Given the description of an element on the screen output the (x, y) to click on. 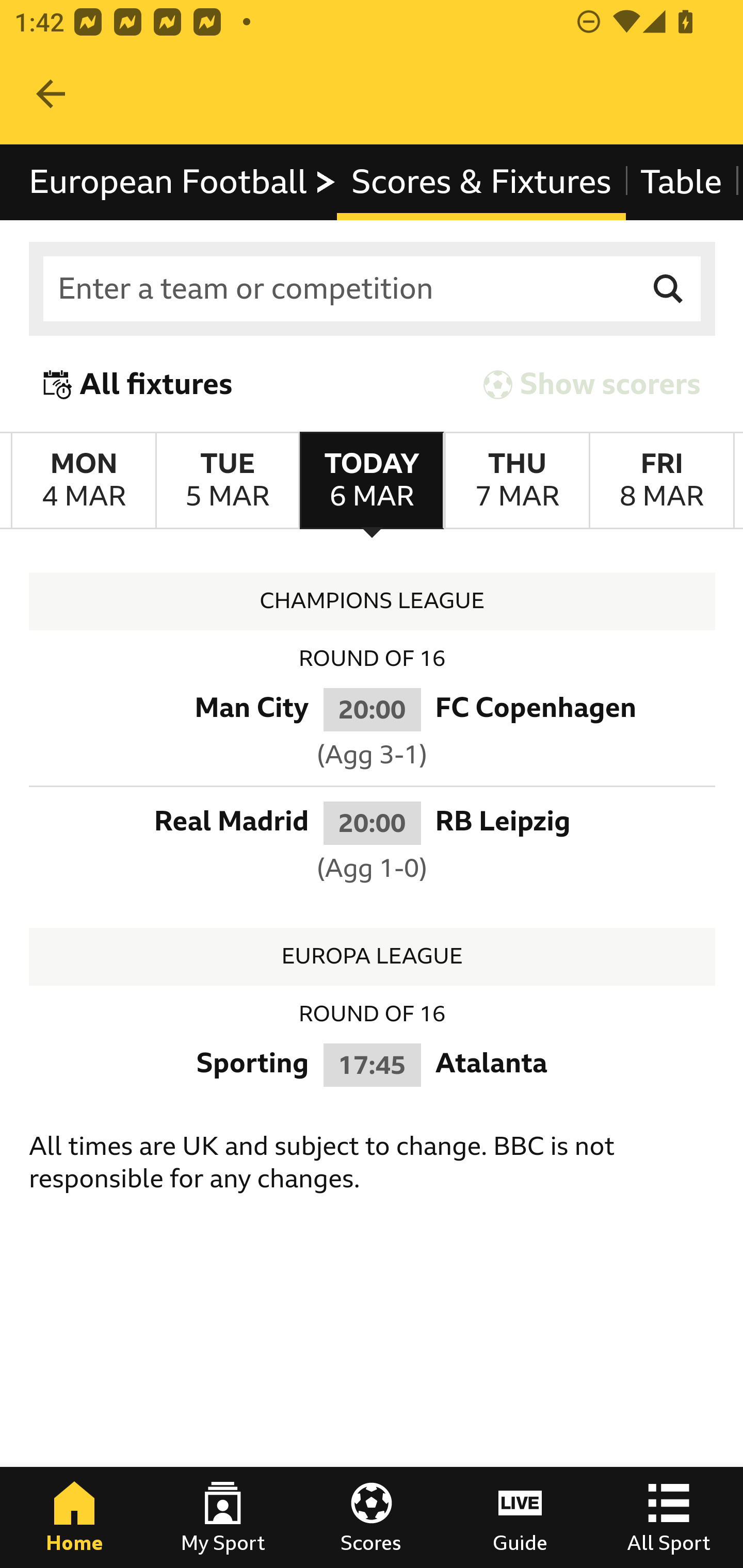
Navigate up (50, 93)
European Football  (182, 181)
Scores & Fixtures (480, 181)
Table (681, 181)
Search (669, 289)
All fixtures (137, 383)
Show scorers (591, 383)
MondayMarch 4th Monday March 4th (83, 480)
TuesdayMarch 5th Tuesday March 5th (227, 480)
ThursdayMarch 7th Thursday March 7th (516, 480)
FridayMarch 8th Friday March 8th (661, 480)
My Sport (222, 1517)
Scores (371, 1517)
Guide (519, 1517)
All Sport (668, 1517)
